Given the description of an element on the screen output the (x, y) to click on. 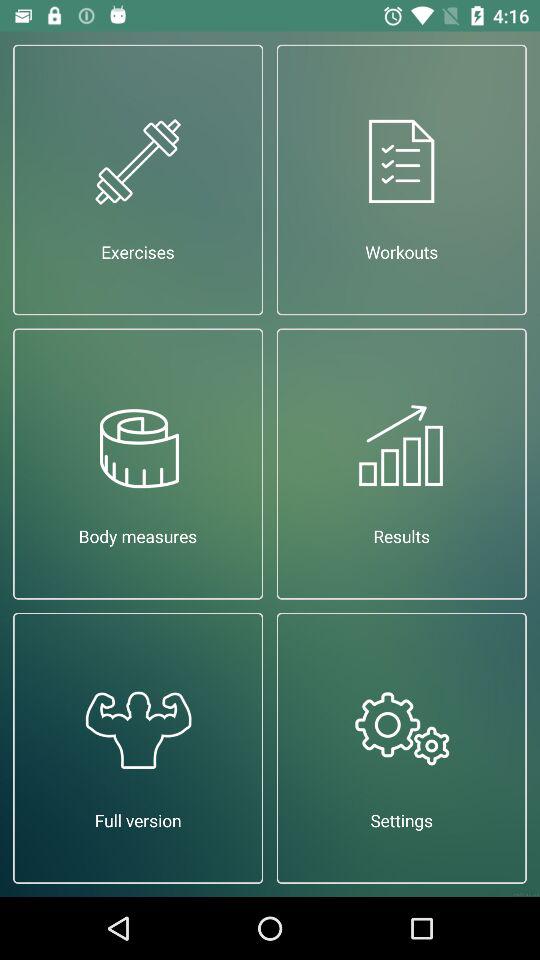
turn off the item at the top right corner (401, 179)
